Given the description of an element on the screen output the (x, y) to click on. 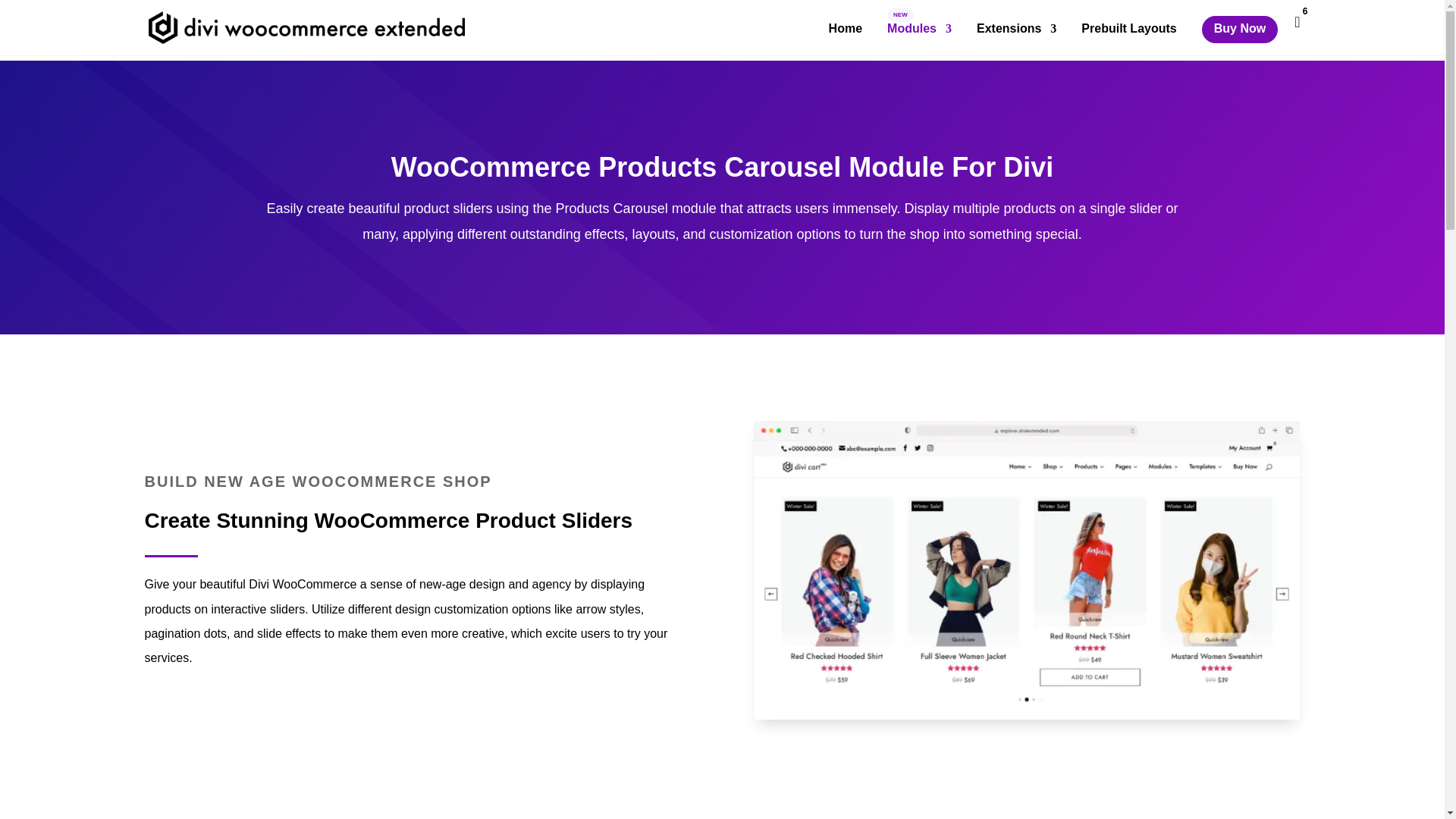
Home (844, 39)
Buy Now (1240, 29)
Modules (919, 39)
Prebuilt Layouts (1128, 39)
Extensions (1016, 39)
